Given the description of an element on the screen output the (x, y) to click on. 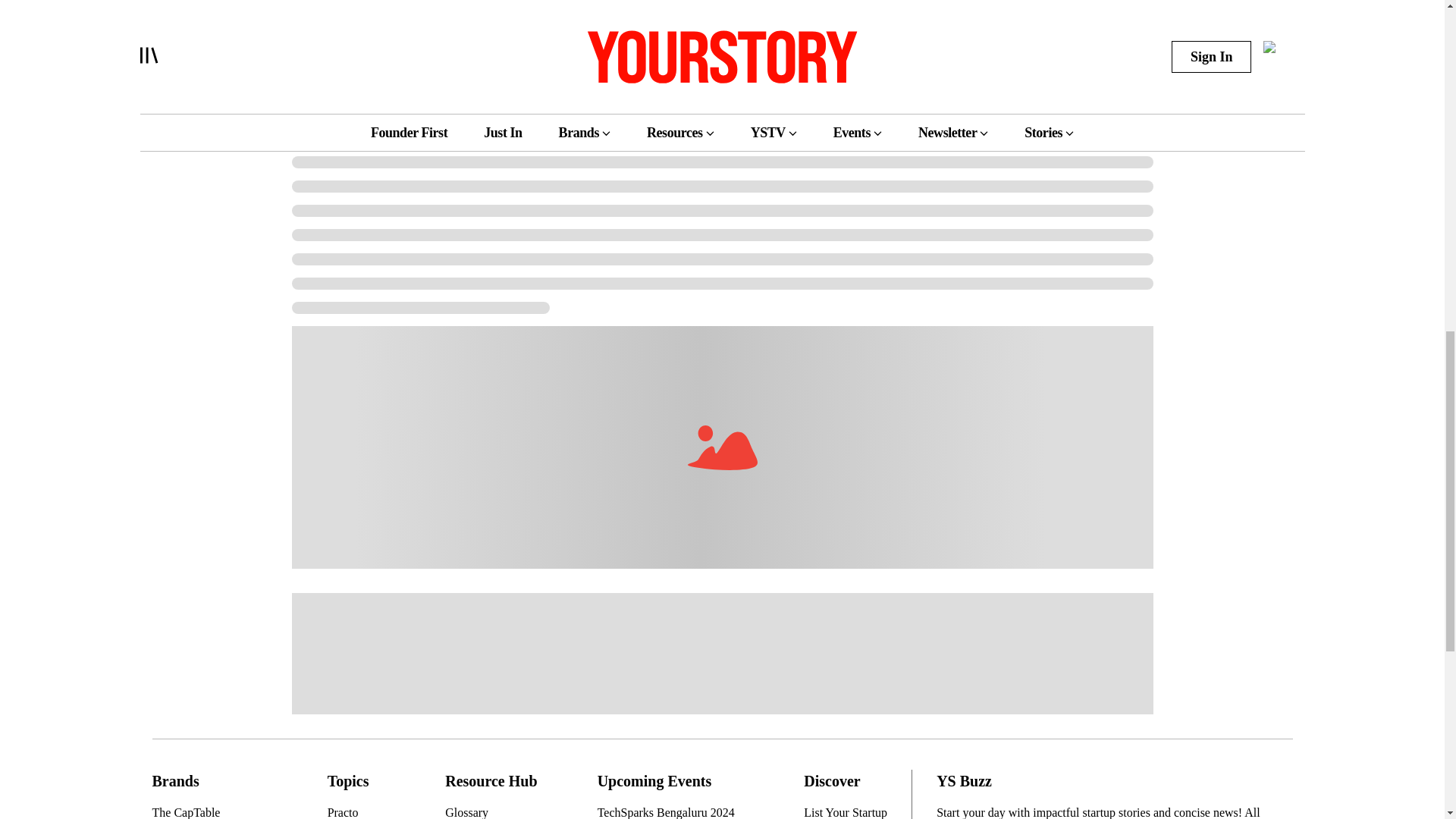
List Your Startup (851, 811)
The CapTable (210, 811)
TechSparks Bengaluru 2024 (671, 811)
Practo (357, 811)
Glossary (492, 811)
